Given the description of an element on the screen output the (x, y) to click on. 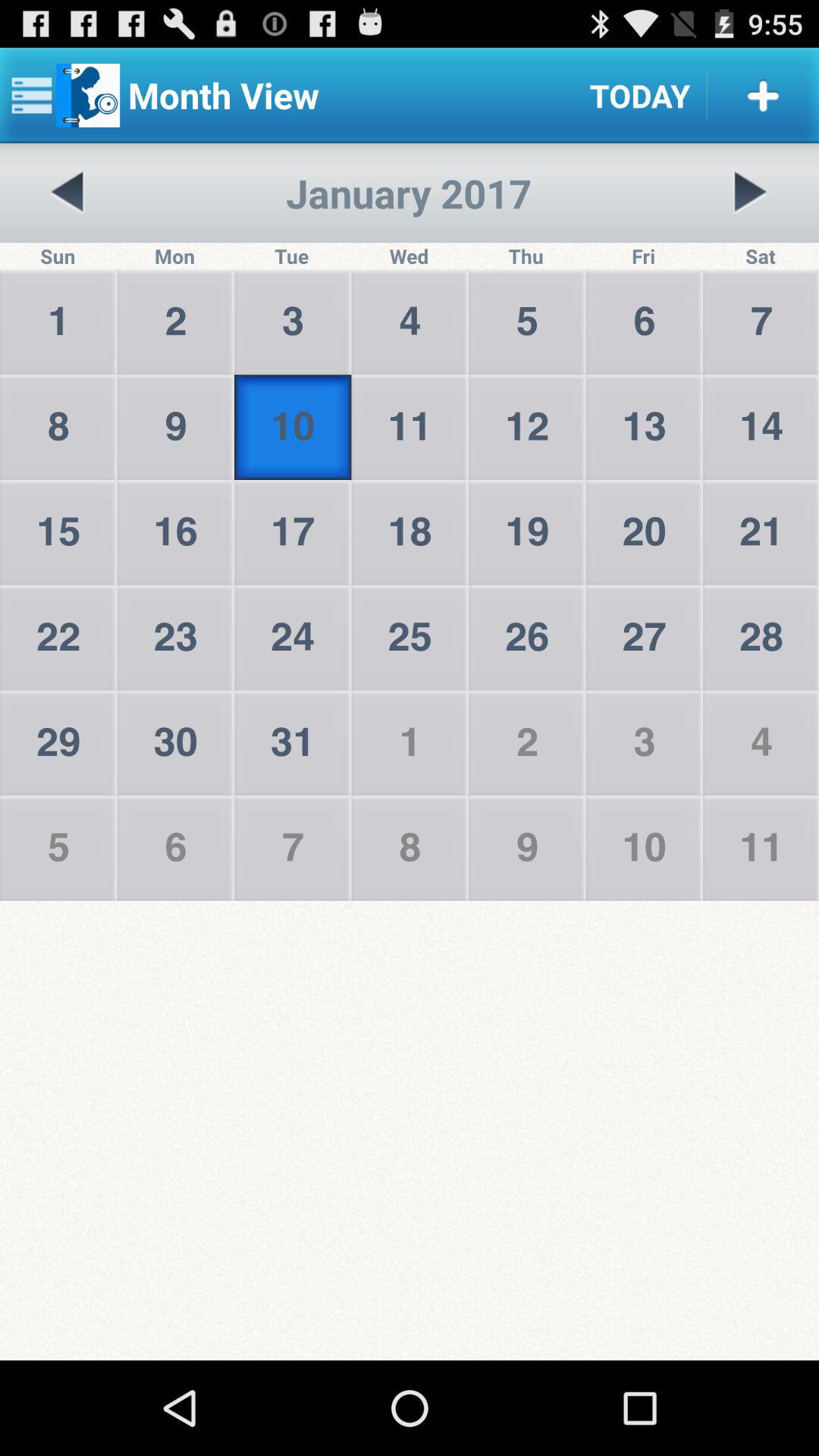
add an event (763, 95)
